Given the description of an element on the screen output the (x, y) to click on. 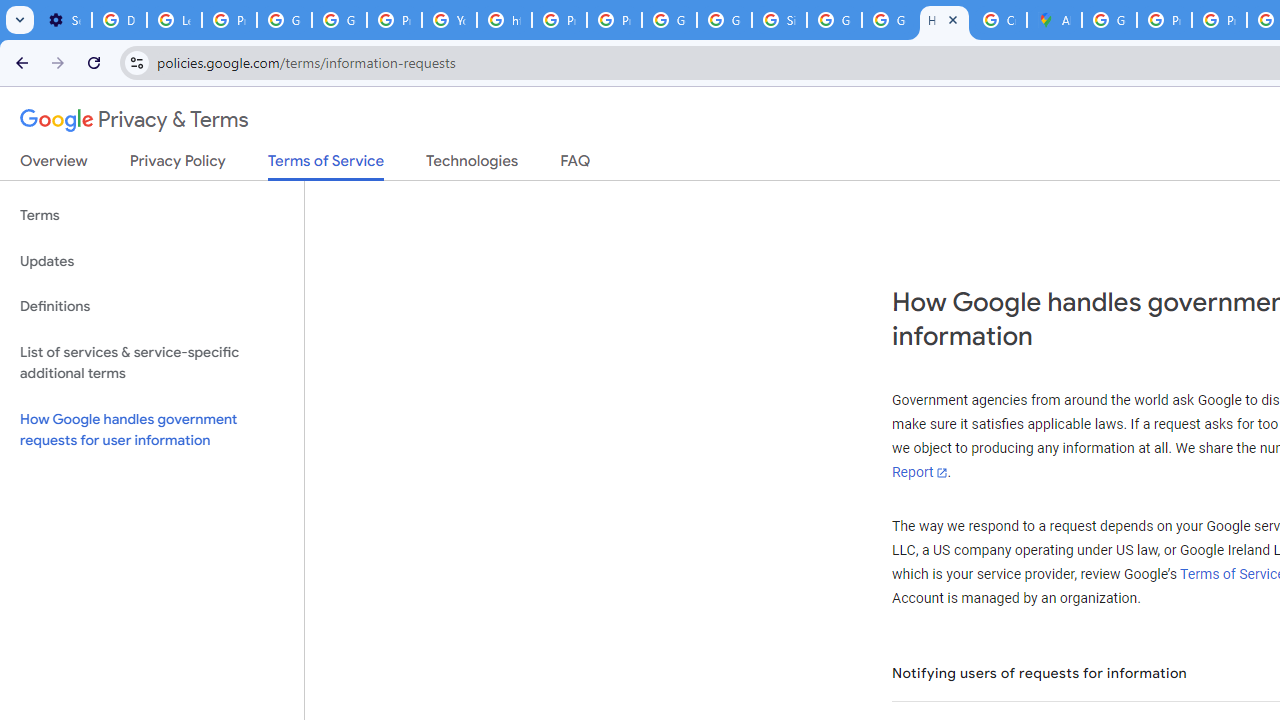
Learn how to find your photos - Google Photos Help (174, 20)
List of services & service-specific additional terms (152, 362)
Google Account Help (284, 20)
